Given the description of an element on the screen output the (x, y) to click on. 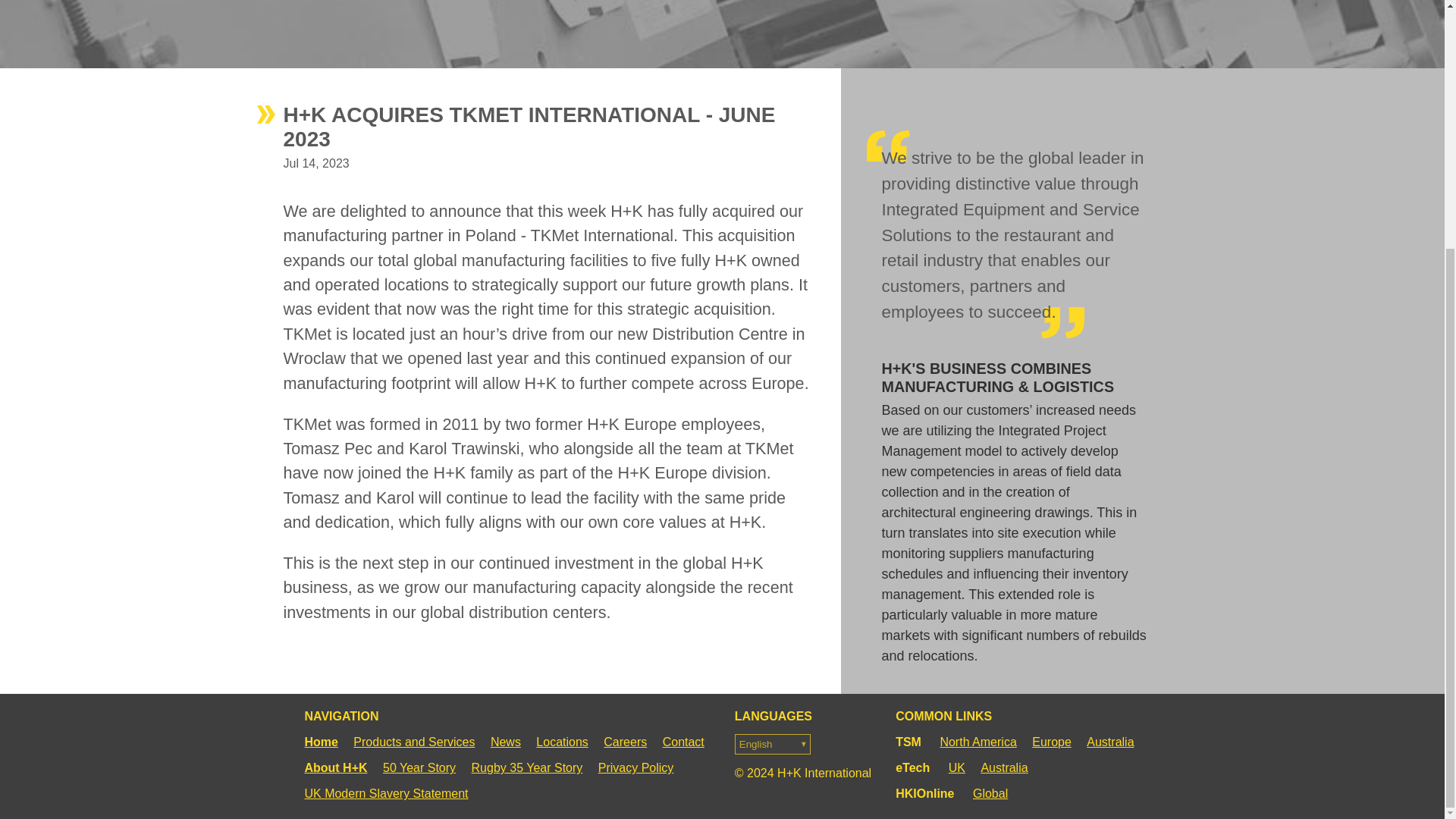
UK Modern Slavery Statement (389, 793)
Products and Services (413, 741)
Contact (683, 741)
UK Modern Slavery Statement (389, 793)
Rugby 35 Year Story (527, 767)
Home (323, 741)
Privacy Policy (635, 767)
50 Year Story (419, 767)
Locations (561, 741)
North America (977, 741)
Careers (624, 741)
News (505, 741)
